Given the description of an element on the screen output the (x, y) to click on. 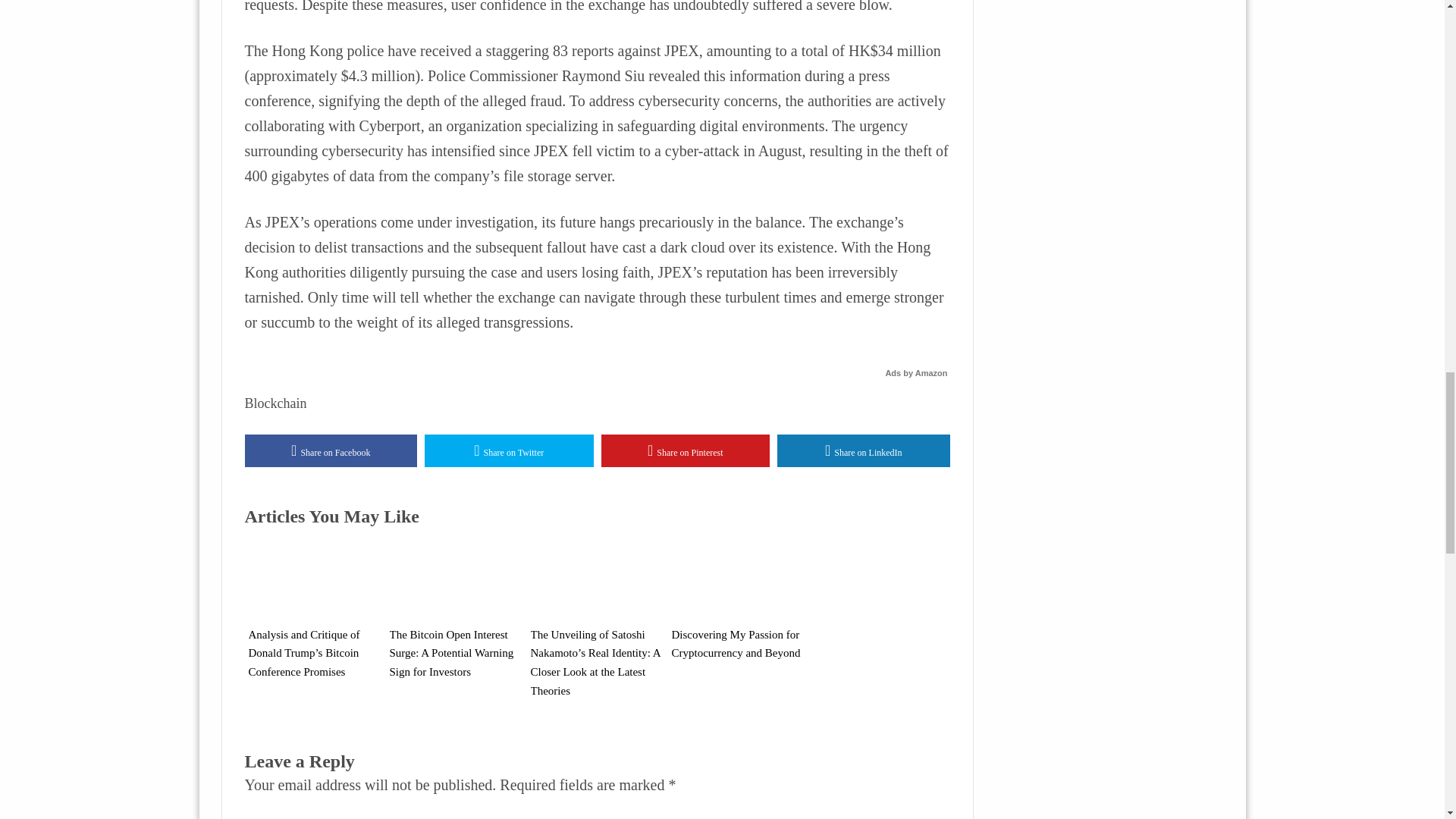
Blockchain (274, 403)
